Given the description of an element on the screen output the (x, y) to click on. 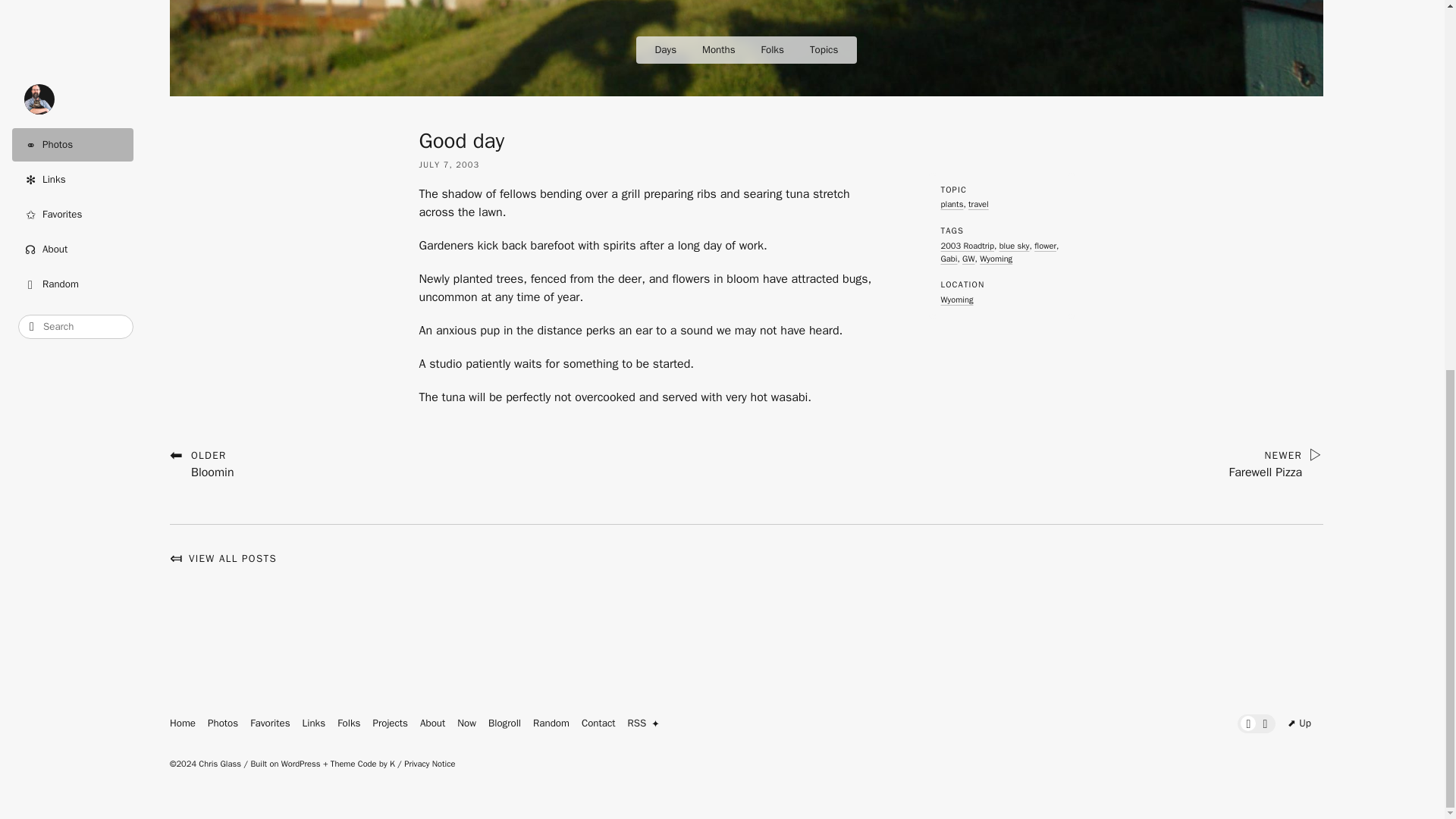
About (432, 722)
Wyoming (956, 299)
2003 Roadtrip (966, 245)
Folks (348, 722)
plants (951, 204)
Links (314, 722)
Contact (202, 463)
Wyoming (597, 722)
VIEW ALL POSTS (995, 258)
